Given the description of an element on the screen output the (x, y) to click on. 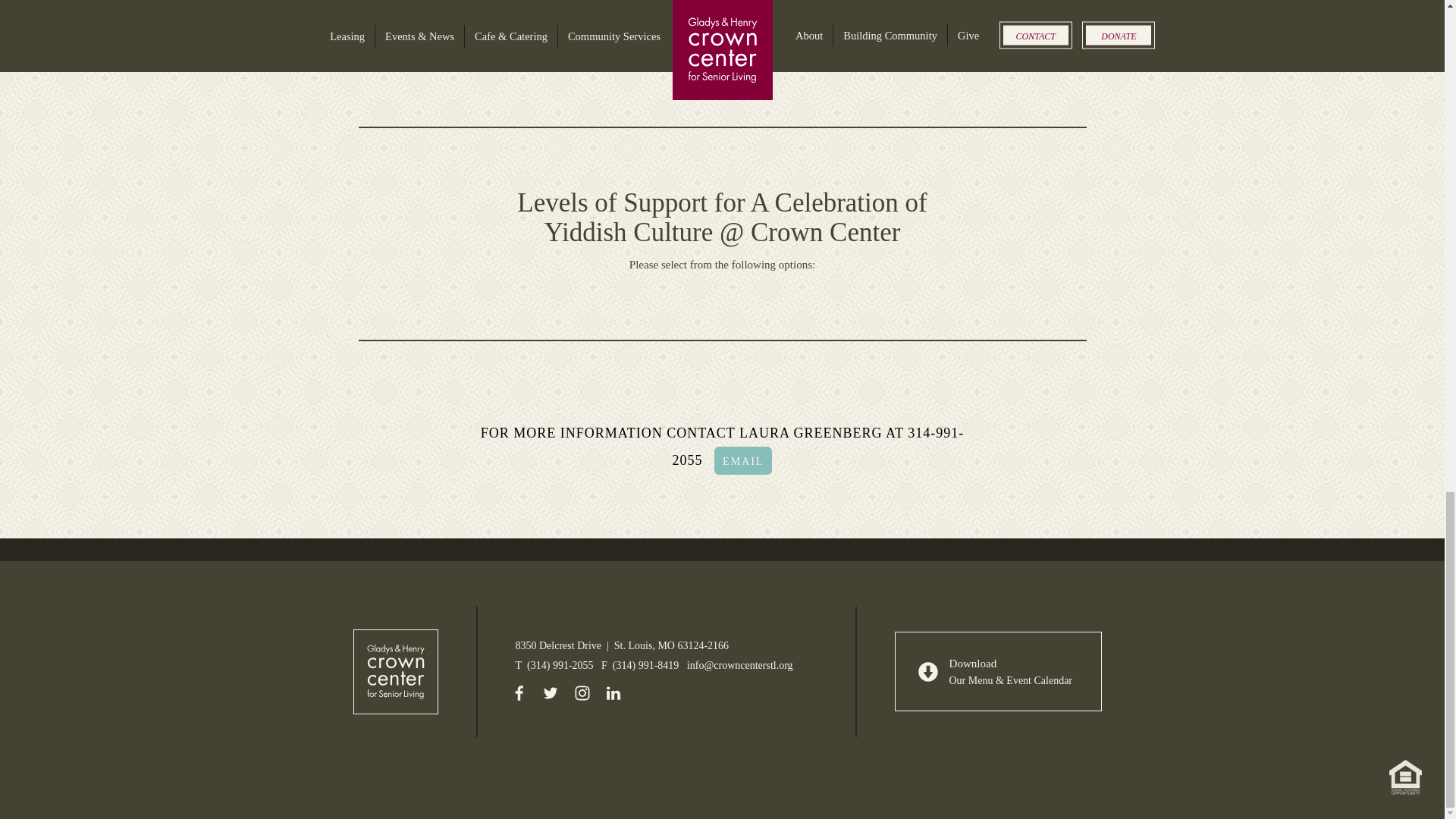
EMAIL (742, 460)
INVITE PDF (442, 48)
Crown Center Instagram (582, 696)
Crown Center Linkedin (613, 696)
Crown Center Facebook (518, 696)
Crown Center Twitter (550, 696)
